Given the description of an element on the screen output the (x, y) to click on. 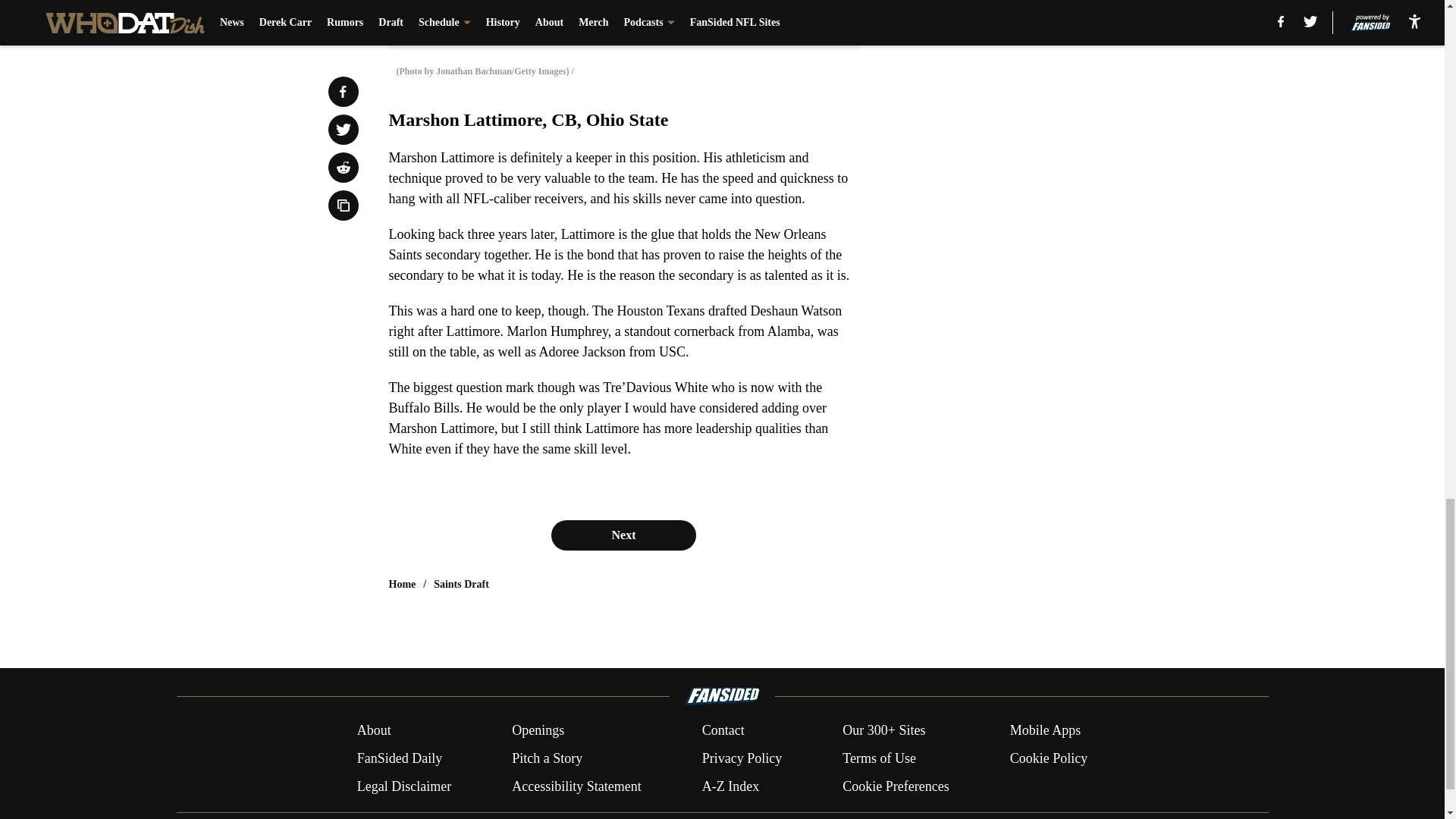
Terms of Use (879, 758)
Openings (538, 730)
Next (622, 535)
Home (401, 584)
FanSided Daily (399, 758)
Privacy Policy (742, 758)
Contact (722, 730)
Saints Draft (461, 584)
About (373, 730)
Pitch a Story (547, 758)
Mobile Apps (1045, 730)
